Given the description of an element on the screen output the (x, y) to click on. 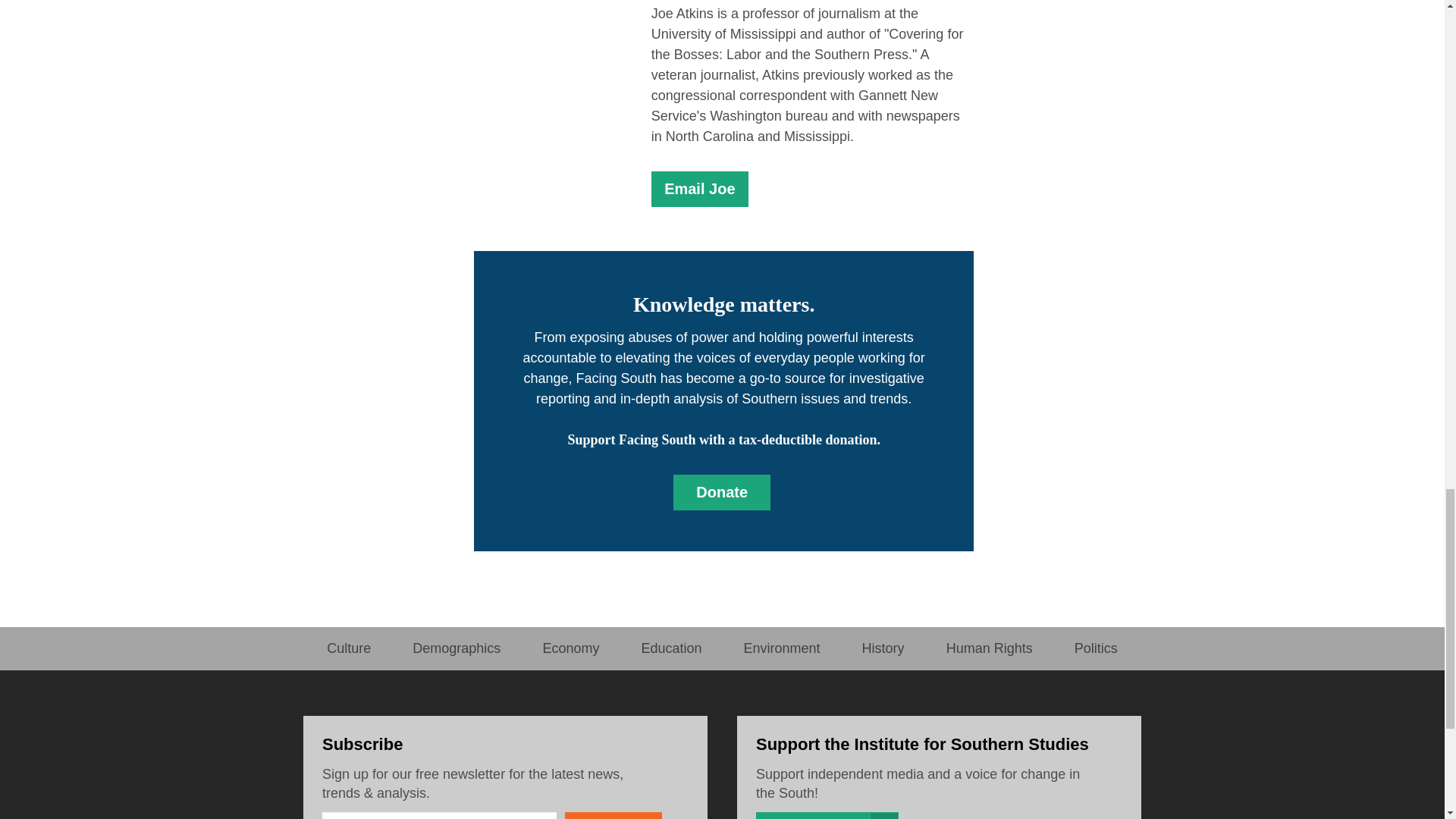
Email Joe (699, 189)
Donate (721, 492)
Subscribe (613, 815)
